Given the description of an element on the screen output the (x, y) to click on. 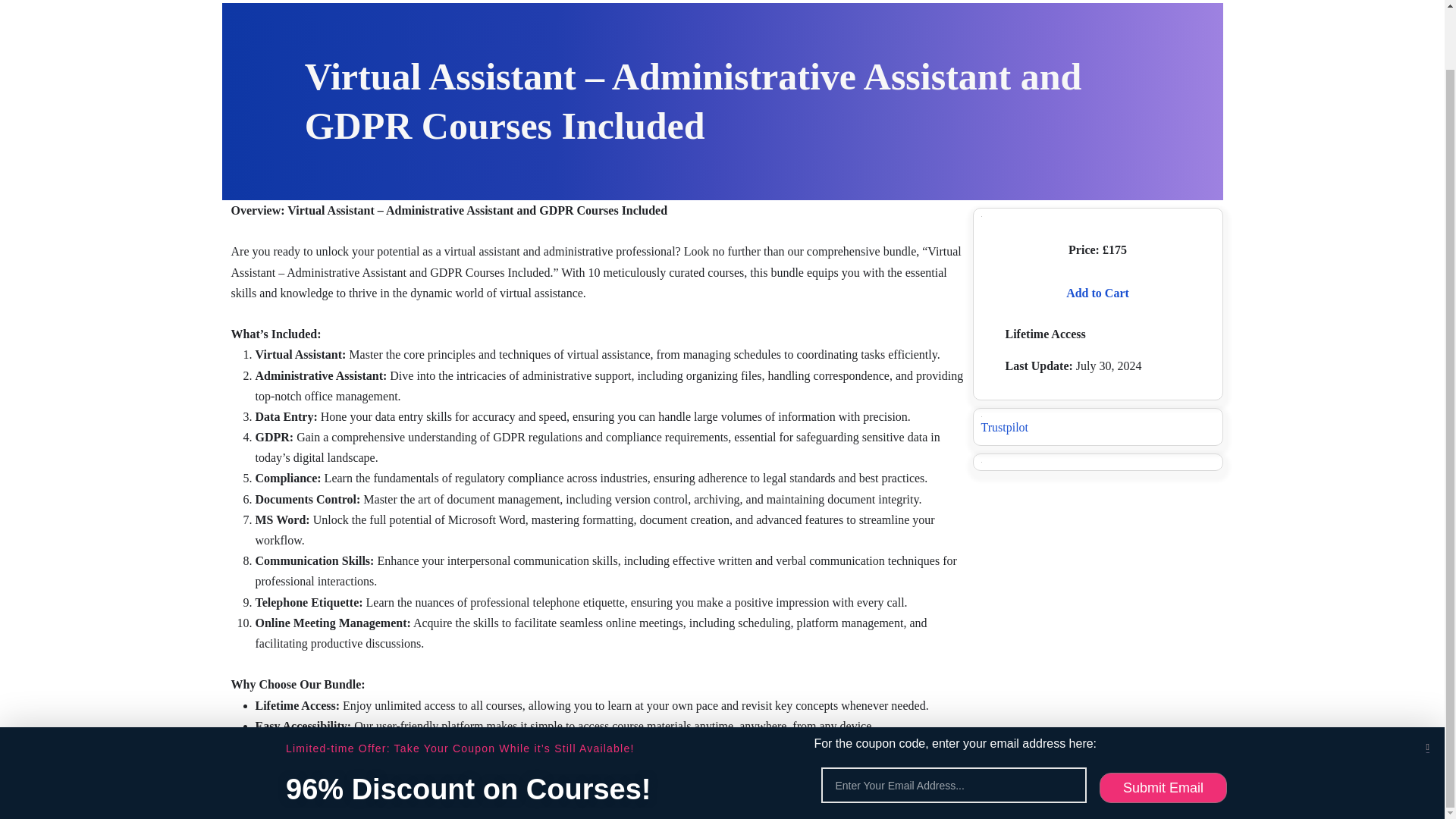
Add to Cart (1097, 292)
Submit Email (1163, 722)
Trustpilot (1005, 427)
